Given the description of an element on the screen output the (x, y) to click on. 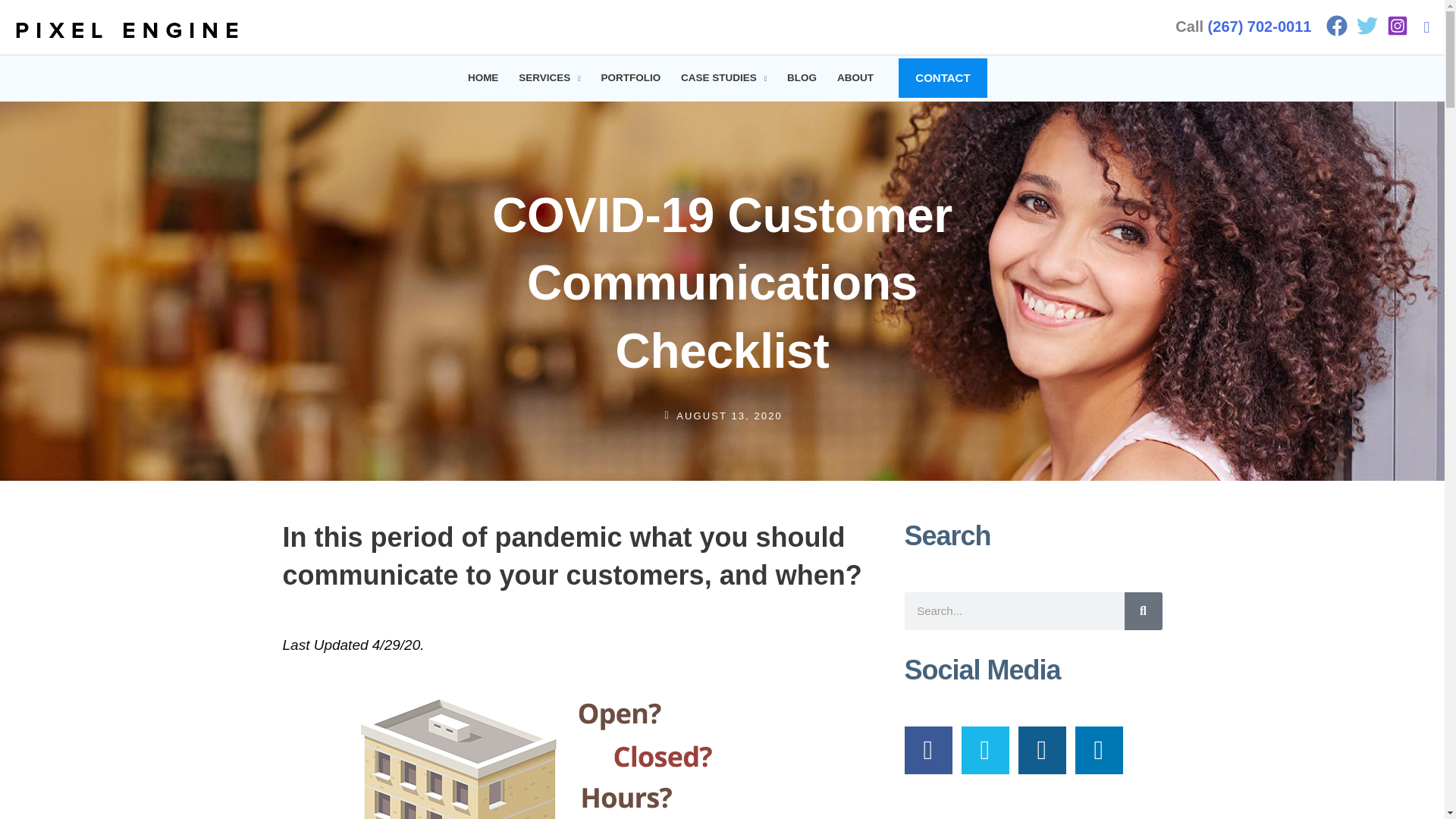
SERVICES (549, 77)
CASE STUDIES (724, 77)
PORTFOLIO (631, 77)
HOME (482, 77)
BLOG (802, 77)
